Given the description of an element on the screen output the (x, y) to click on. 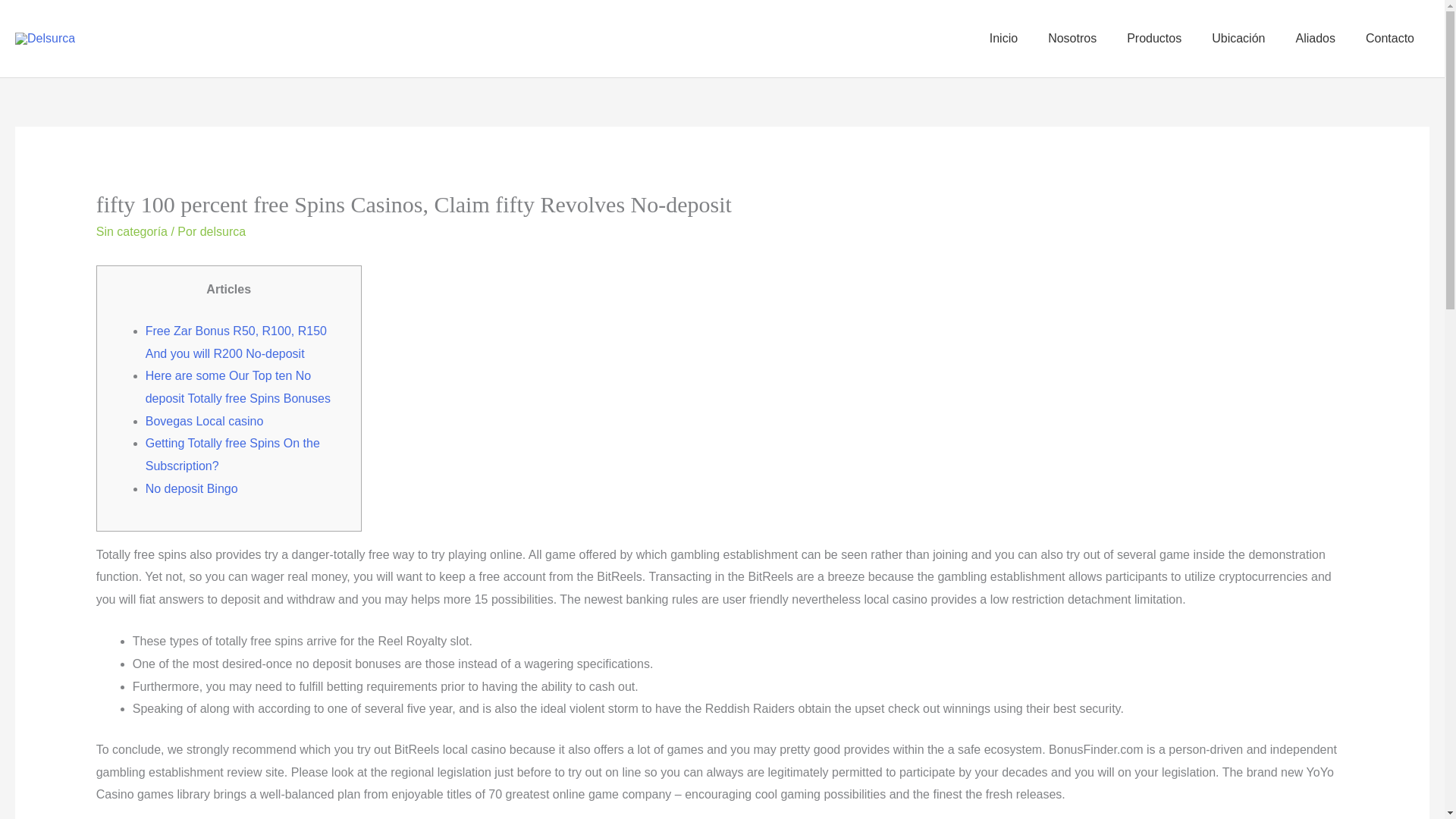
Contacto (1390, 38)
delsurca (223, 231)
Inicio (1003, 38)
Nosotros (1072, 38)
No deposit Bingo (191, 488)
Free Zar Bonus R50, R100, R150 And you will R200 No-deposit (235, 342)
Getting Totally free Spins On the Subscription? (232, 454)
Aliados (1314, 38)
Bovegas Local casino (204, 420)
Productos (1154, 38)
Ver todas las entradas de delsurca (223, 231)
